Given the description of an element on the screen output the (x, y) to click on. 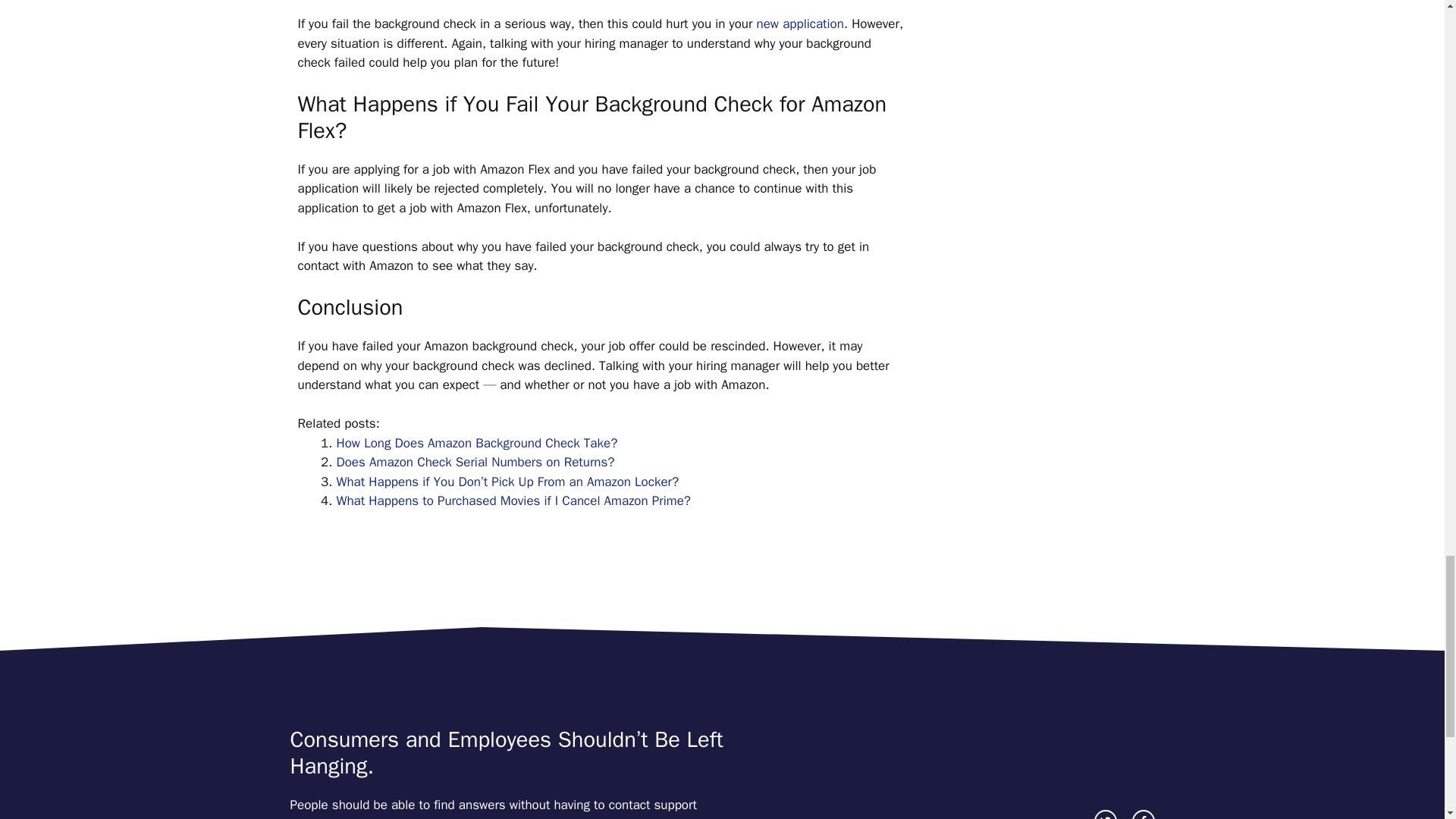
How Long Does Amazon Background Check Take? (476, 442)
What Happens to Purchased Movies if I Cancel Amazon Prime? (513, 500)
What Happens to Purchased Movies if I Cancel Amazon Prime? (513, 500)
Does Amazon Check Serial Numbers on Returns? (475, 462)
How Long Does Amazon Background Check Take? (476, 442)
Does Amazon Check Serial Numbers on Returns? (475, 462)
new application (800, 23)
